Given the description of an element on the screen output the (x, y) to click on. 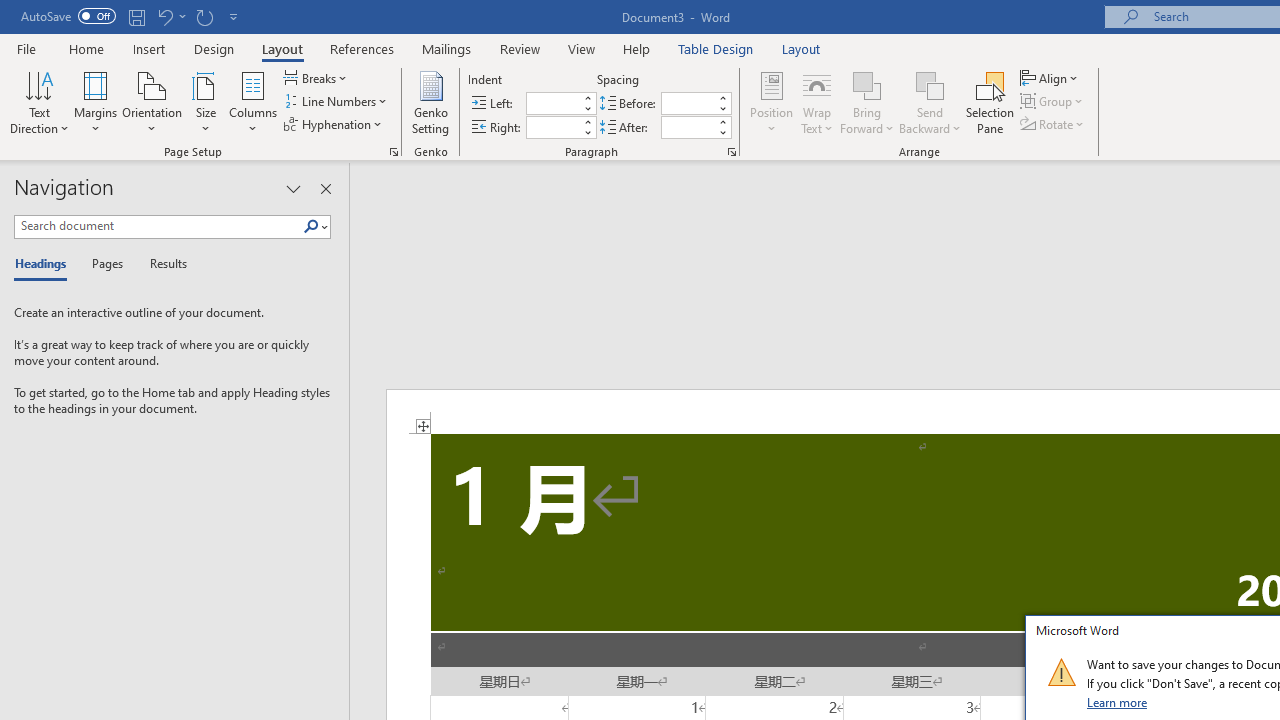
Rotate (1053, 124)
Undo Insert Row Below (170, 15)
Line Numbers (337, 101)
Send Backward (930, 84)
Hyphenation (334, 124)
Spacing Before (687, 103)
